Given the description of an element on the screen output the (x, y) to click on. 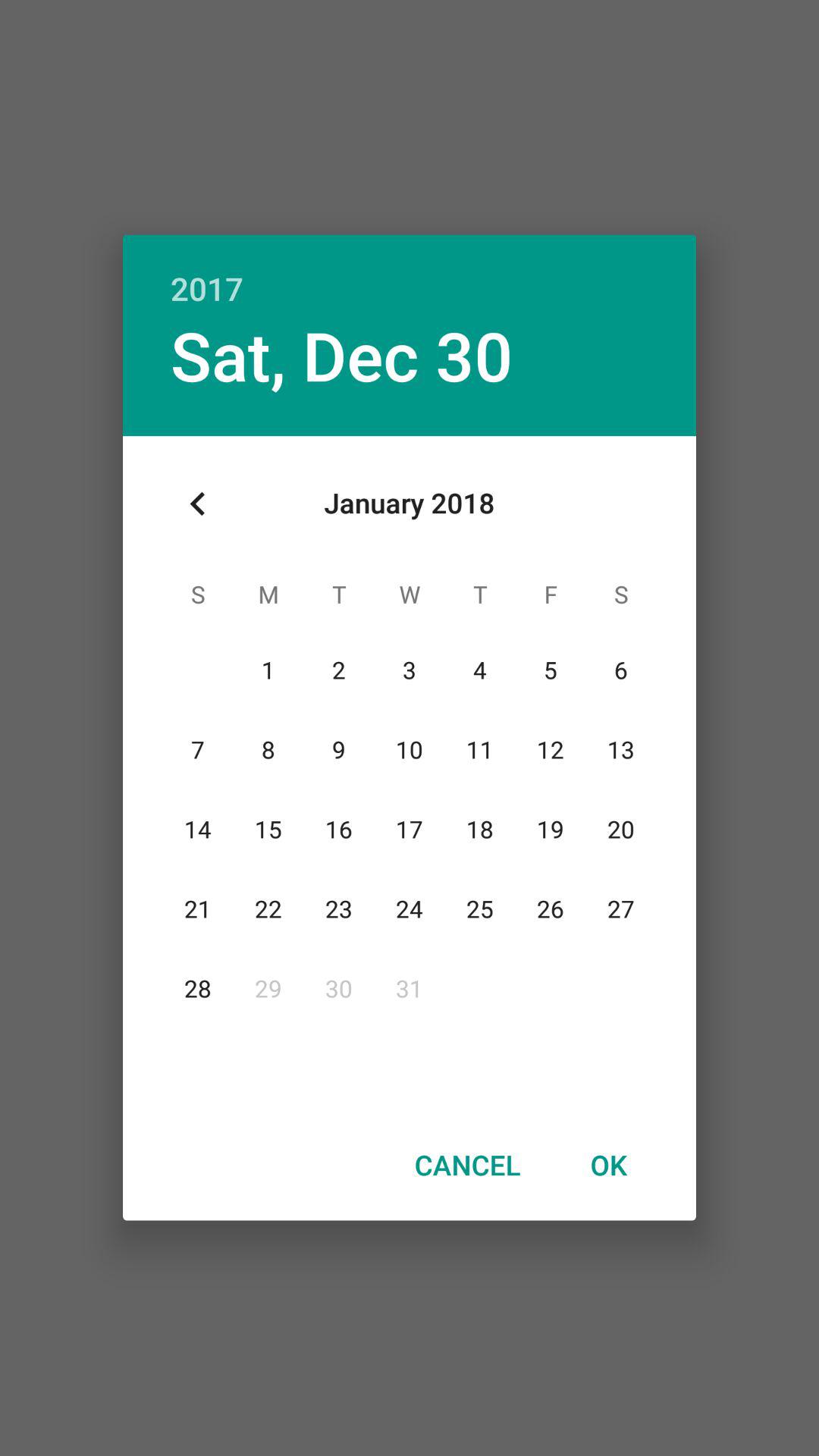
choose the item next to ok item (467, 1164)
